Given the description of an element on the screen output the (x, y) to click on. 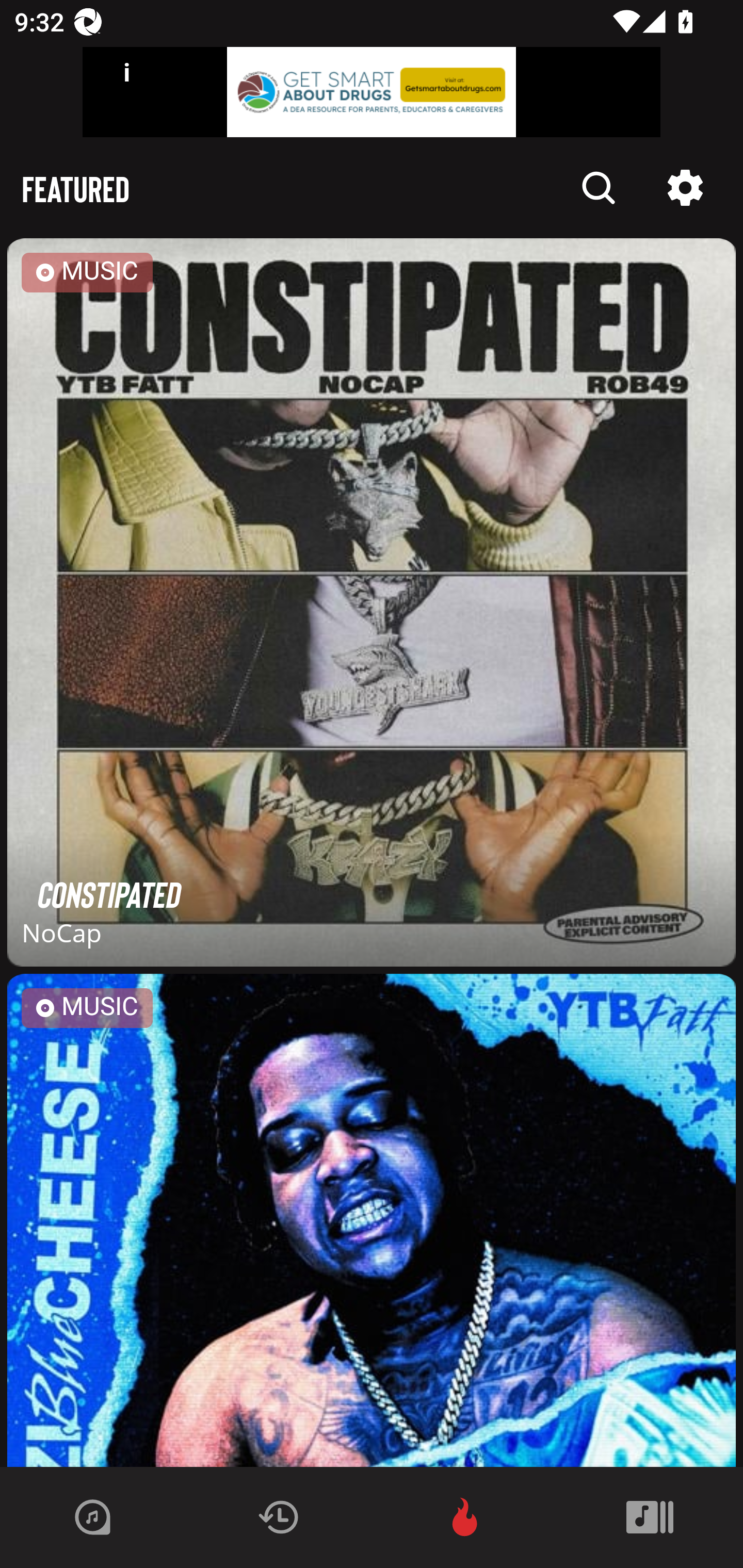
Description (598, 188)
Description (684, 188)
Description MUSIC Constipated NoCap (371, 605)
Description MUSIC (371, 1220)
